Given the description of an element on the screen output the (x, y) to click on. 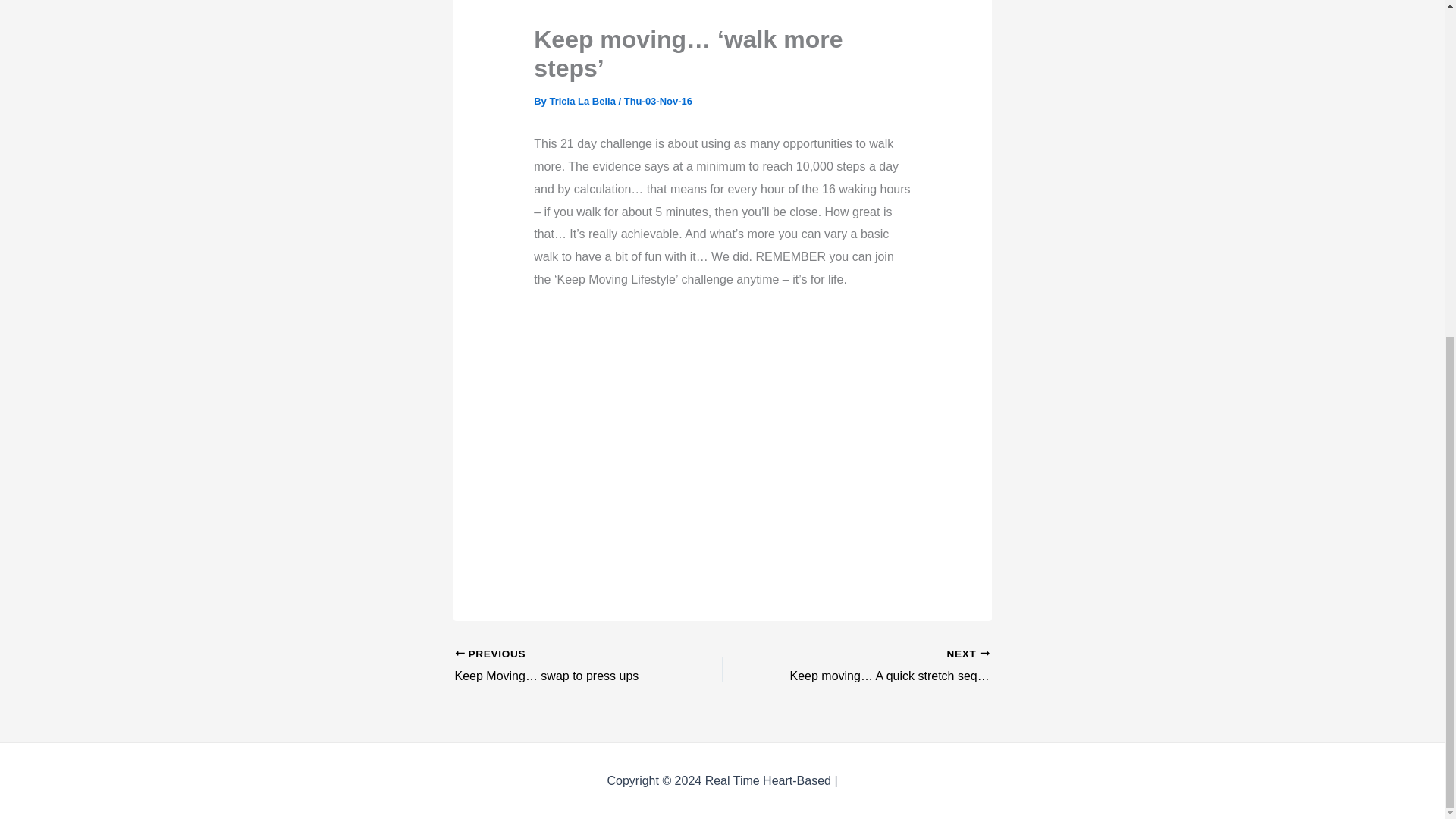
View all posts by Tricia La Bella (582, 101)
Keep Moving... swap to press ups (561, 666)
Keep moving... A quick stretch sequence (882, 666)
